Given the description of an element on the screen output the (x, y) to click on. 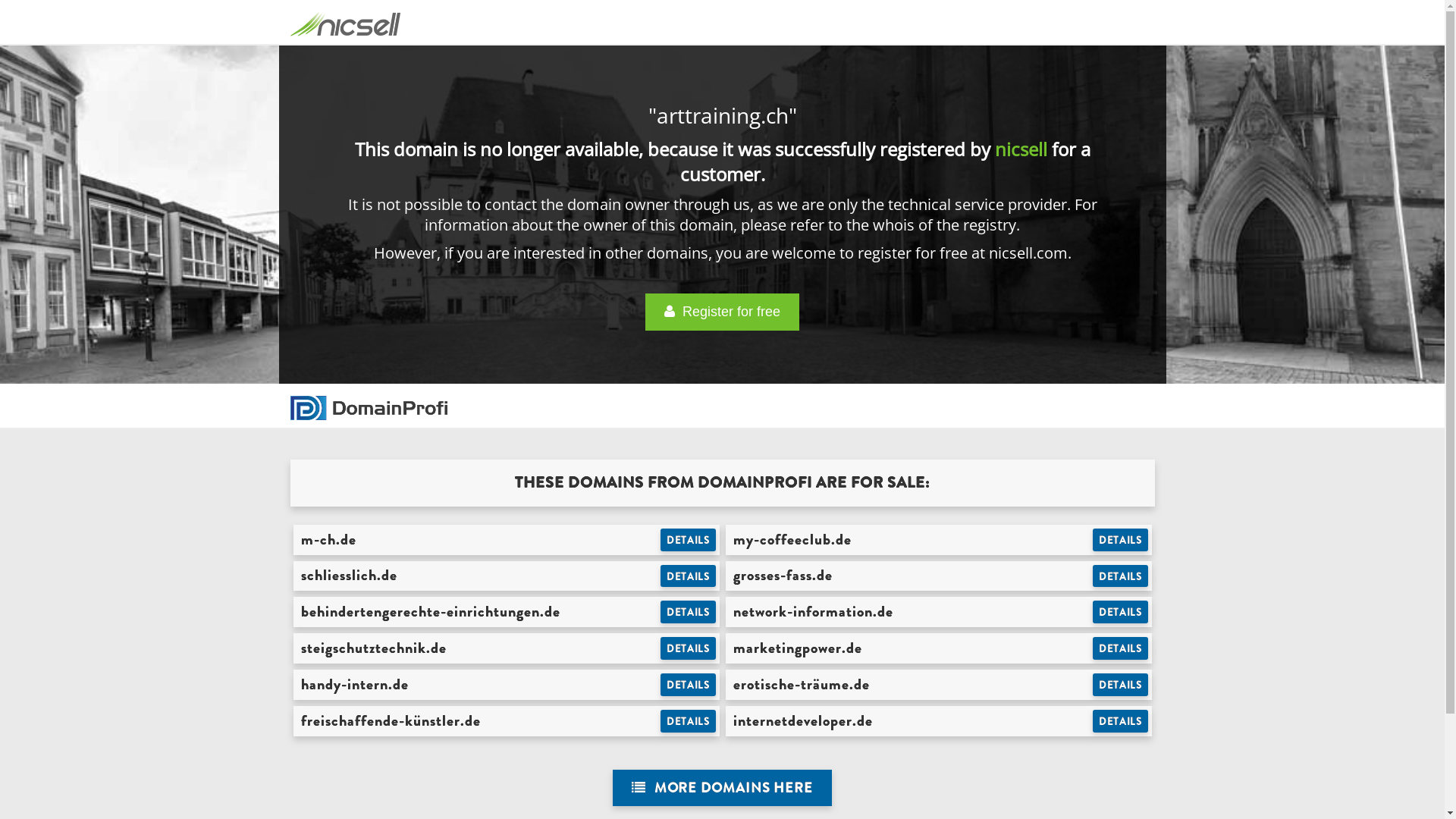
  Register for free Element type: text (722, 311)
DETAILS Element type: text (687, 720)
DETAILS Element type: text (687, 684)
DETAILS Element type: text (1120, 648)
DETAILS Element type: text (1120, 539)
DETAILS Element type: text (1120, 720)
DETAILS Element type: text (687, 539)
DETAILS Element type: text (687, 611)
DETAILS Element type: text (687, 648)
  MORE DOMAINS HERE Element type: text (721, 787)
nicsell Element type: text (1020, 148)
DETAILS Element type: text (1120, 684)
DETAILS Element type: text (1120, 611)
DETAILS Element type: text (1120, 575)
DETAILS Element type: text (687, 575)
